Given the description of an element on the screen output the (x, y) to click on. 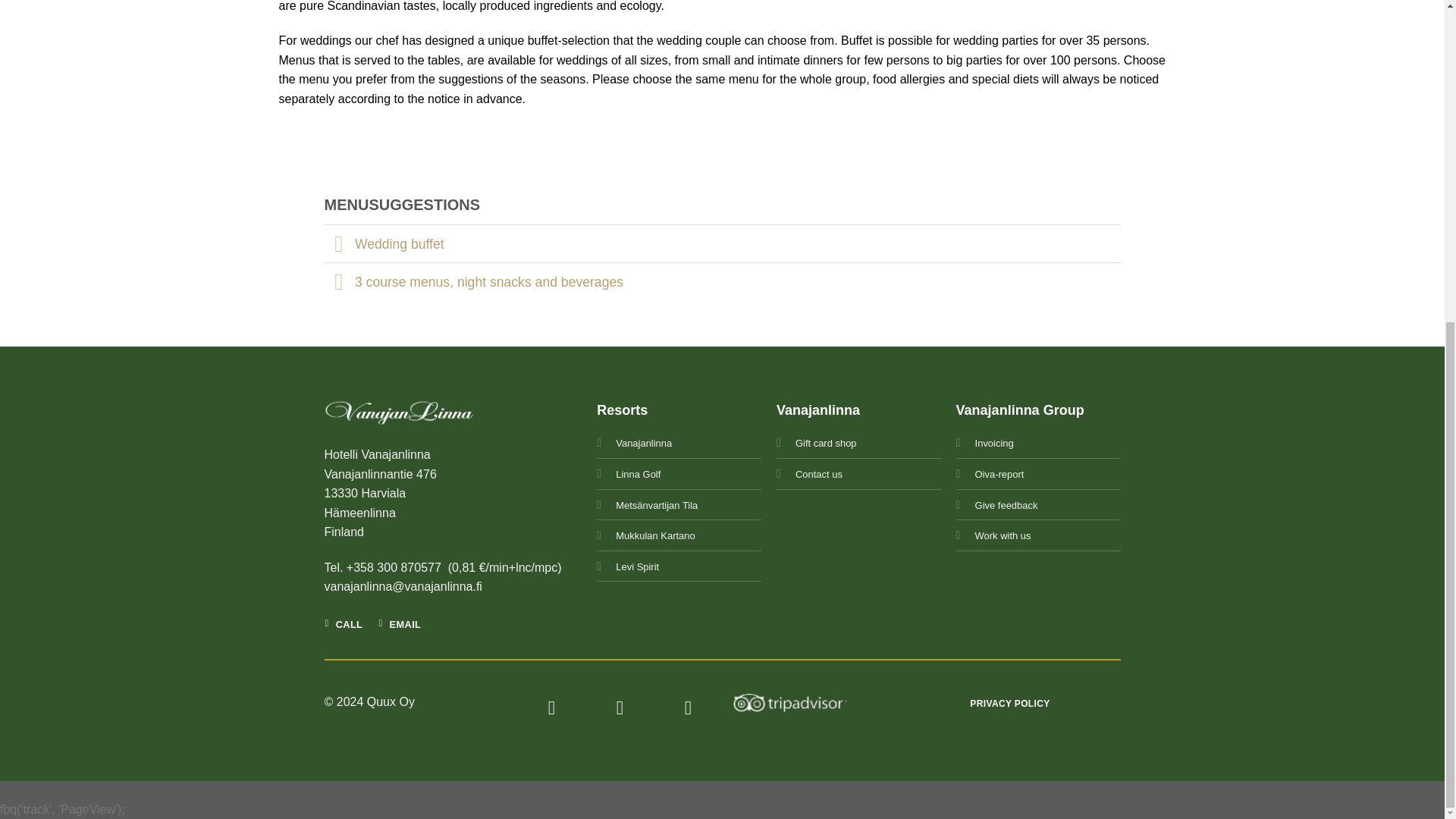
Follow on LinkedIn (688, 707)
Wedding buffet (722, 243)
Follow on Facebook (551, 707)
3 course menus, night snacks and beverages (722, 281)
Follow on Instagram (620, 707)
